Given the description of an element on the screen output the (x, y) to click on. 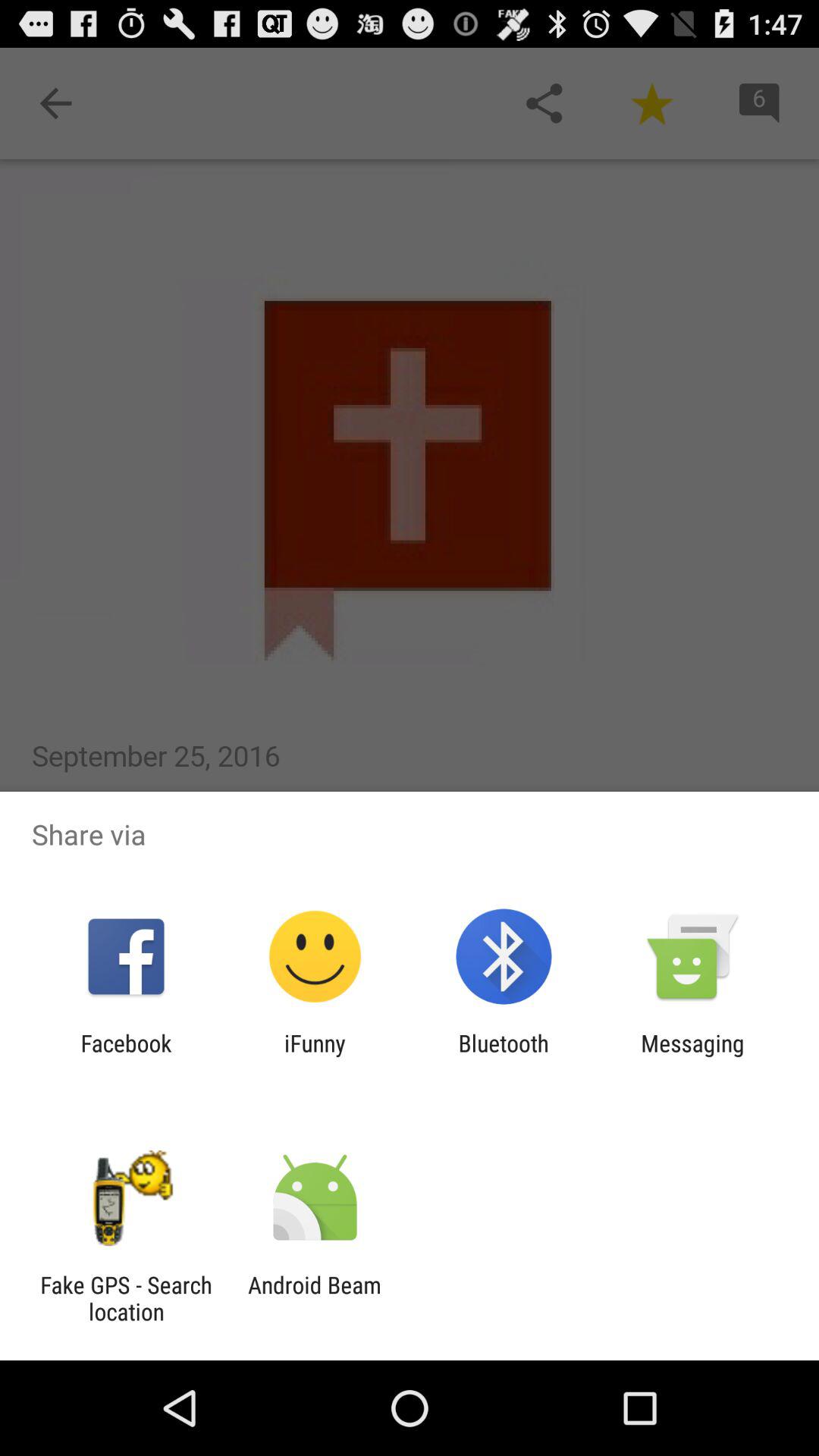
turn on fake gps search icon (125, 1298)
